Given the description of an element on the screen output the (x, y) to click on. 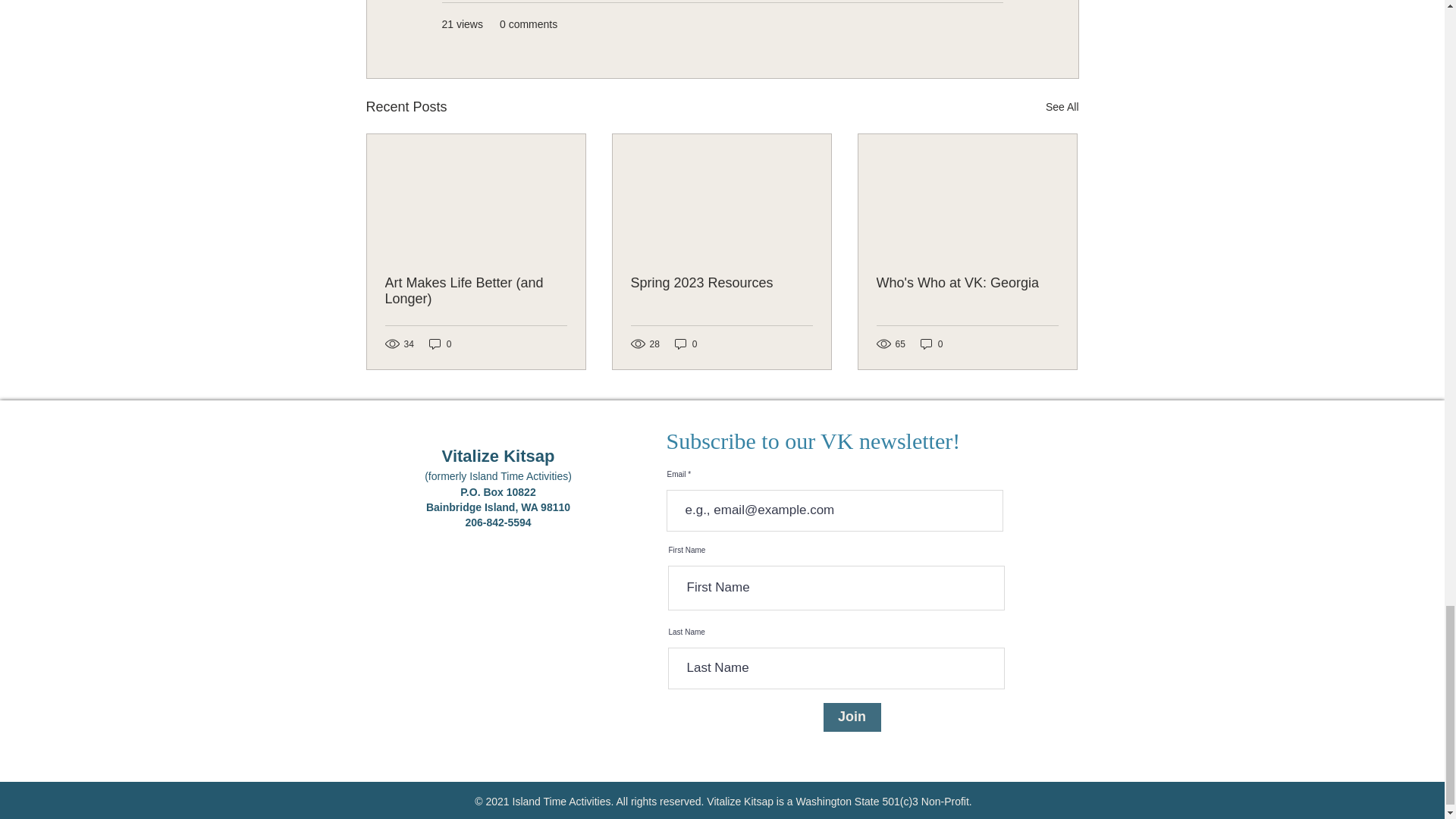
See All (1061, 106)
